Given the description of an element on the screen output the (x, y) to click on. 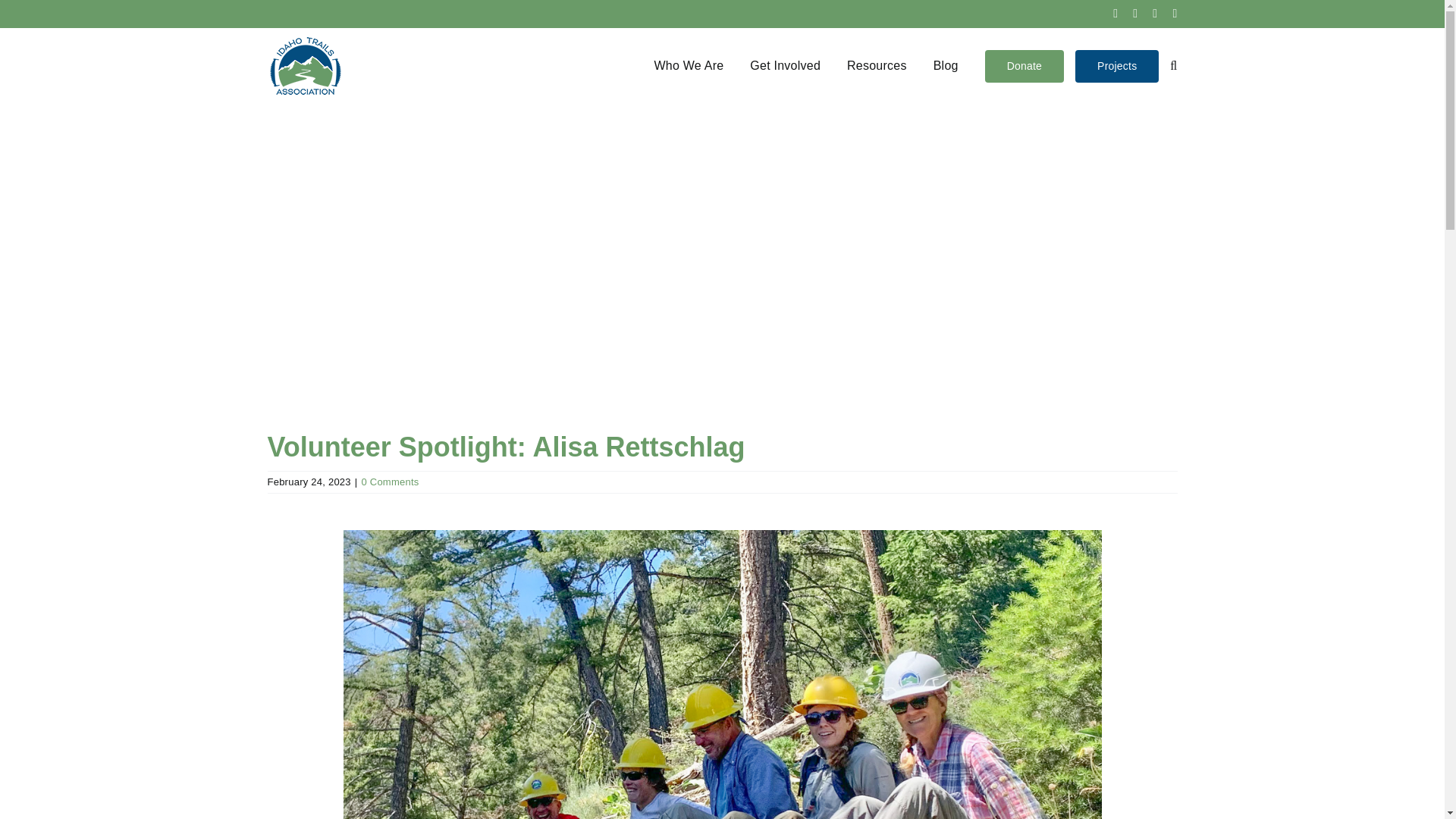
Projects (1116, 65)
Get Involved (785, 65)
Who We Are (688, 65)
Donate (1024, 65)
